Given the description of an element on the screen output the (x, y) to click on. 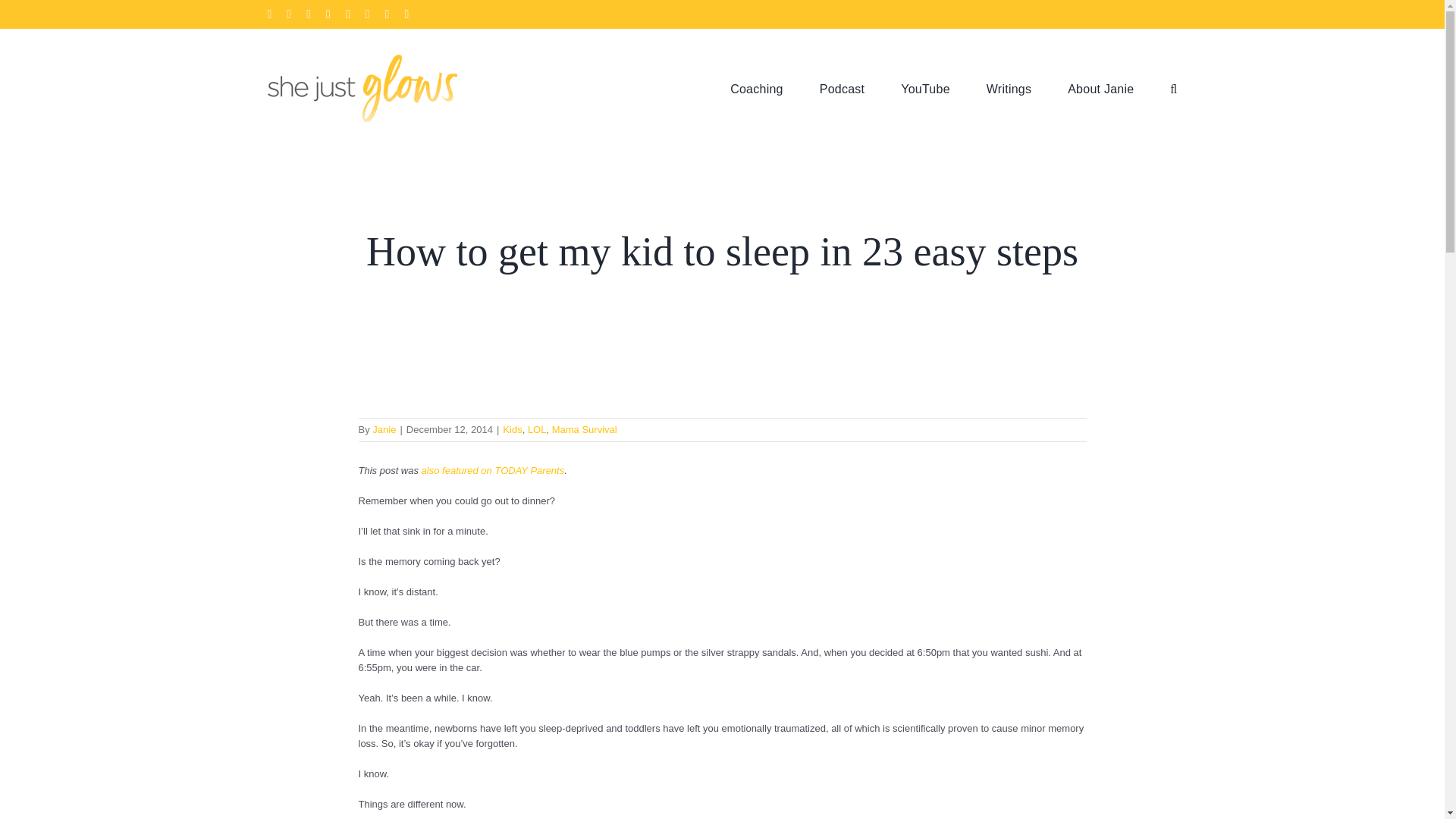
also featured on TODAY Parents (493, 470)
LOL (537, 429)
Janie (384, 429)
Kids (511, 429)
Mama Survival (584, 429)
Posts by Janie (384, 429)
